Given the description of an element on the screen output the (x, y) to click on. 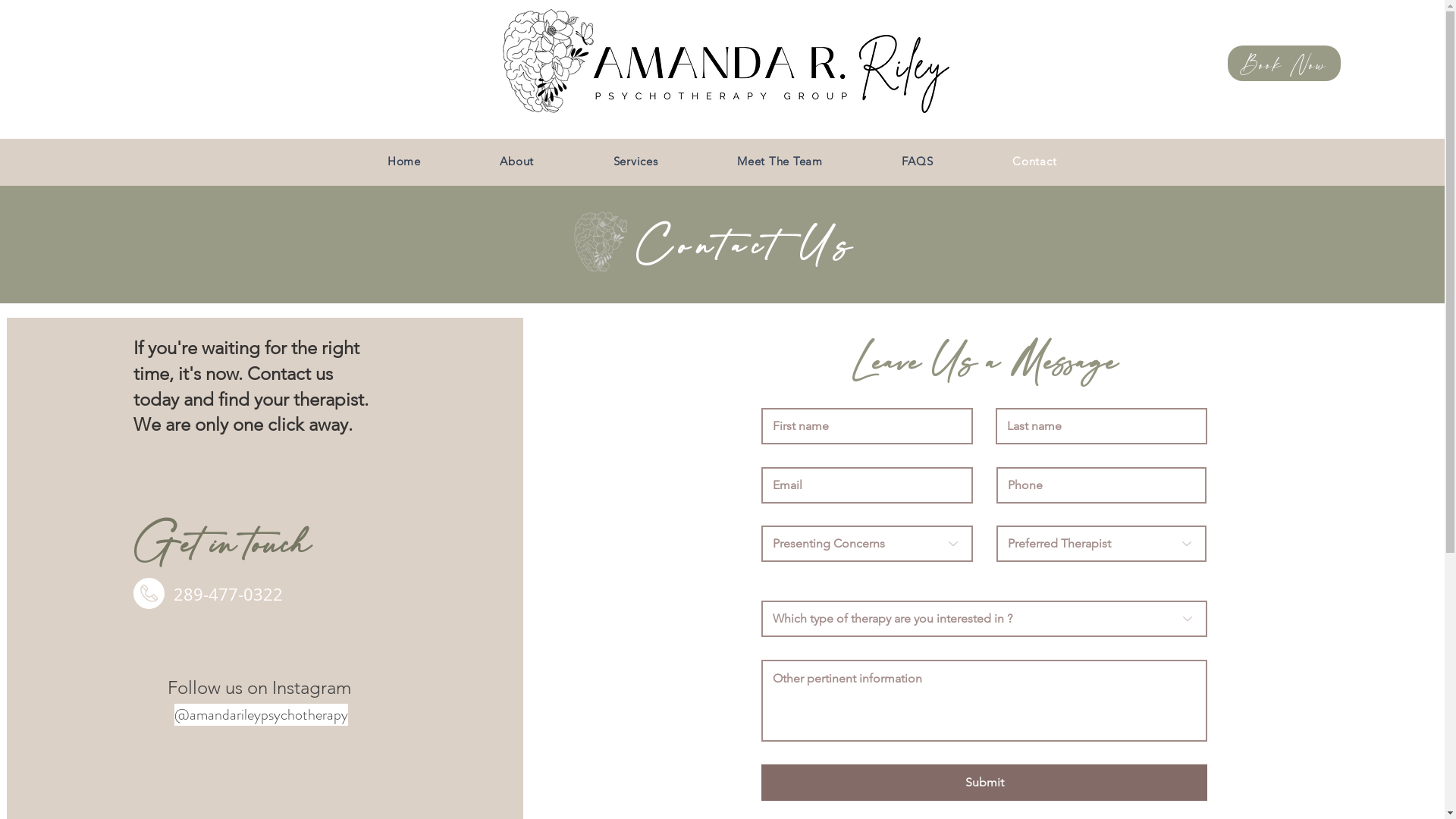
Amanda R. Riley Logo Element type: hover (766, 72)
About Element type: text (516, 160)
FAQS Element type: text (917, 160)
Home Element type: text (403, 160)
Submit Element type: text (984, 782)
Contact Element type: text (1034, 160)
Meet The Team Element type: text (779, 160)
Services Element type: text (635, 160)
Book Now Element type: text (1283, 63)
